Given the description of an element on the screen output the (x, y) to click on. 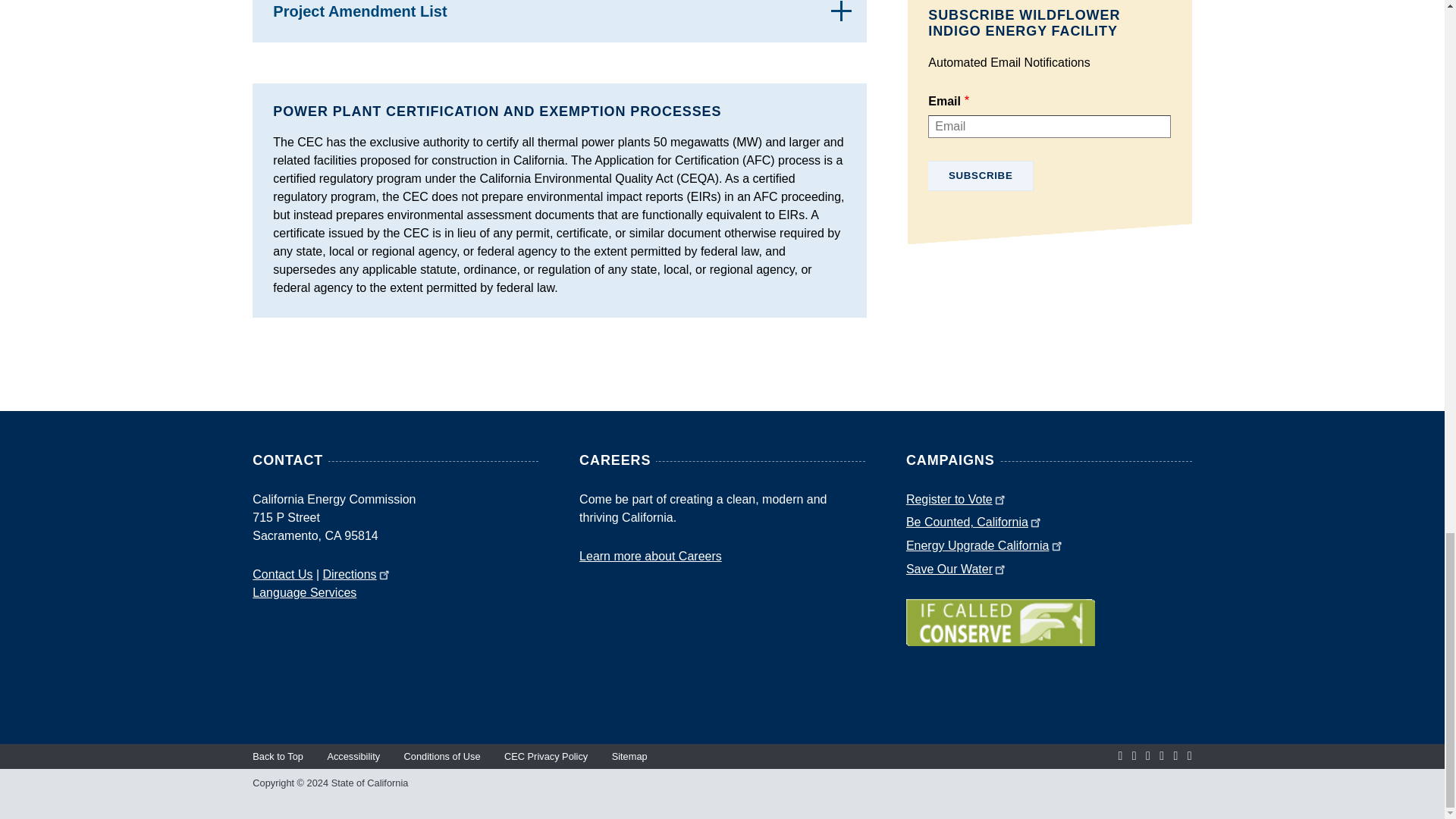
Subscribe (980, 175)
